Given the description of an element on the screen output the (x, y) to click on. 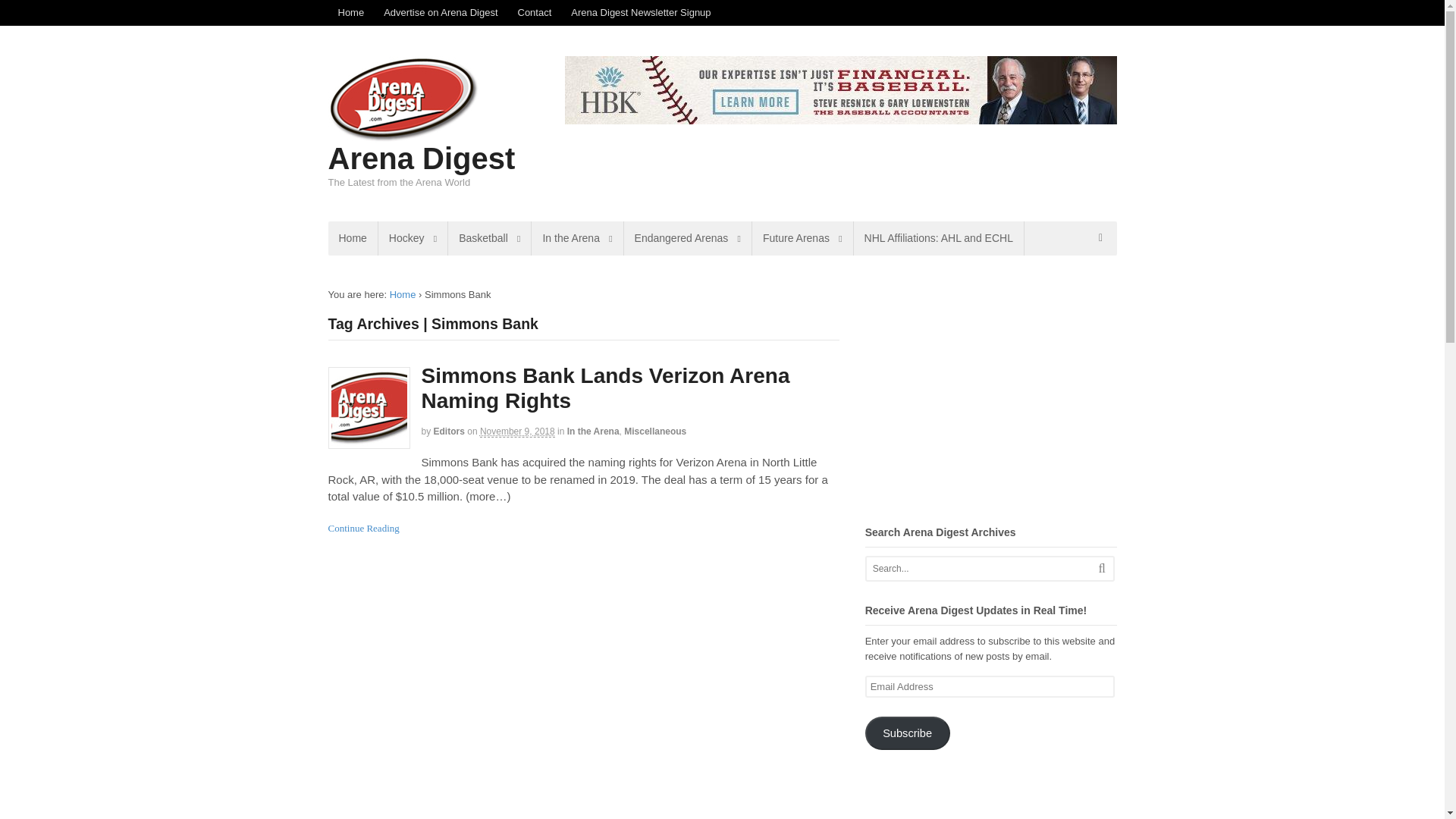
In the Arena (593, 430)
Continue Reading (362, 527)
Arena Digest (403, 294)
Future Arenas (802, 238)
Basketball (489, 238)
View all items in In the Arena (593, 430)
Simmons Bank Lands Verizon Arena Naming Rights (606, 388)
View all items in Miscellaneous (654, 430)
Advertisement (991, 796)
Arena Digest (421, 158)
Posts by Editors (448, 430)
Arena Digest Newsletter Signup (640, 12)
Advertisement (991, 393)
Simmons Bank Lands Verizon Arena Naming Rights (606, 388)
In the Arena (577, 238)
